Given the description of an element on the screen output the (x, y) to click on. 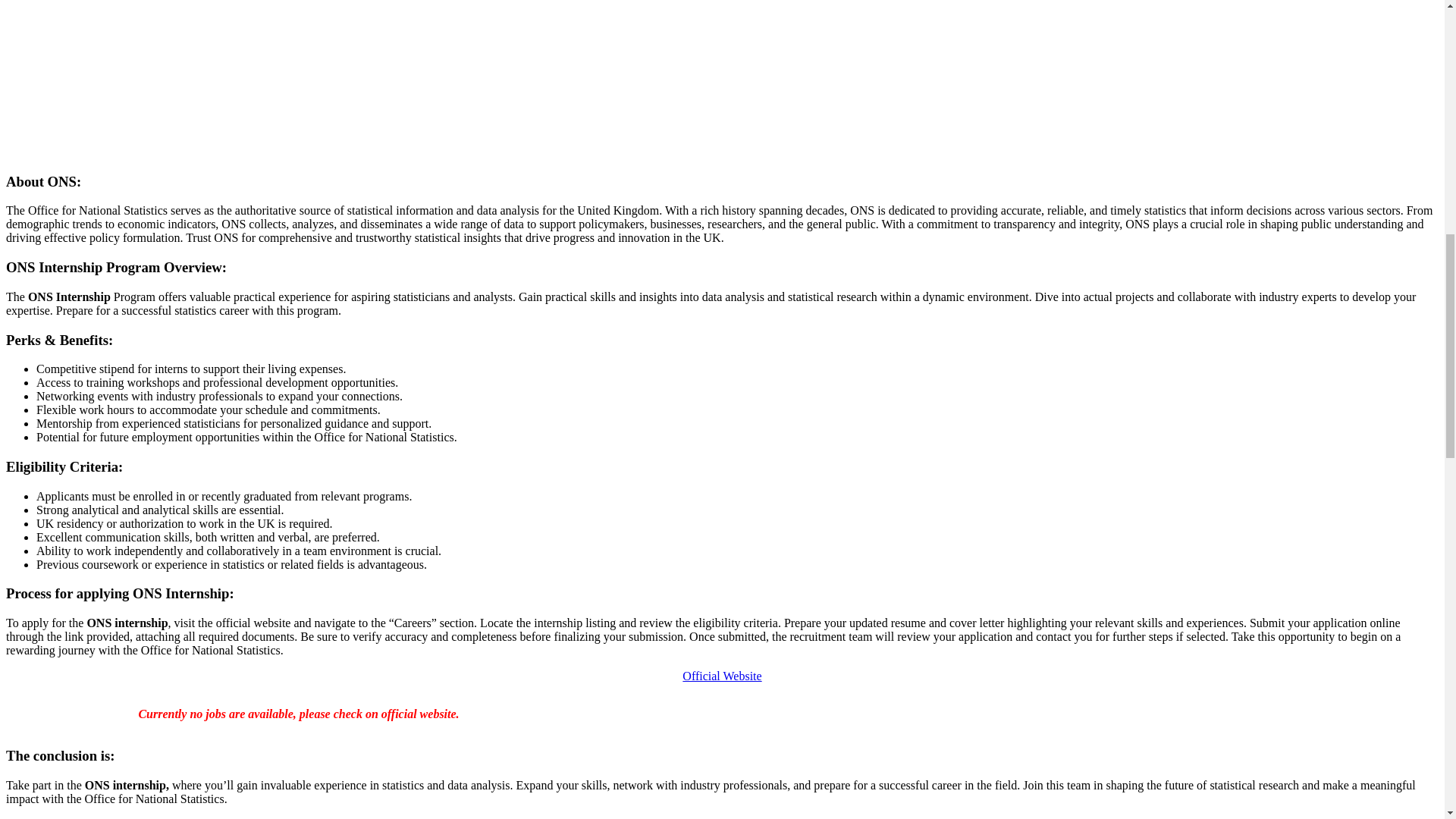
Official Website (721, 675)
ONS Internship Portal (721, 675)
ONS Internship (253, 78)
